Given the description of an element on the screen output the (x, y) to click on. 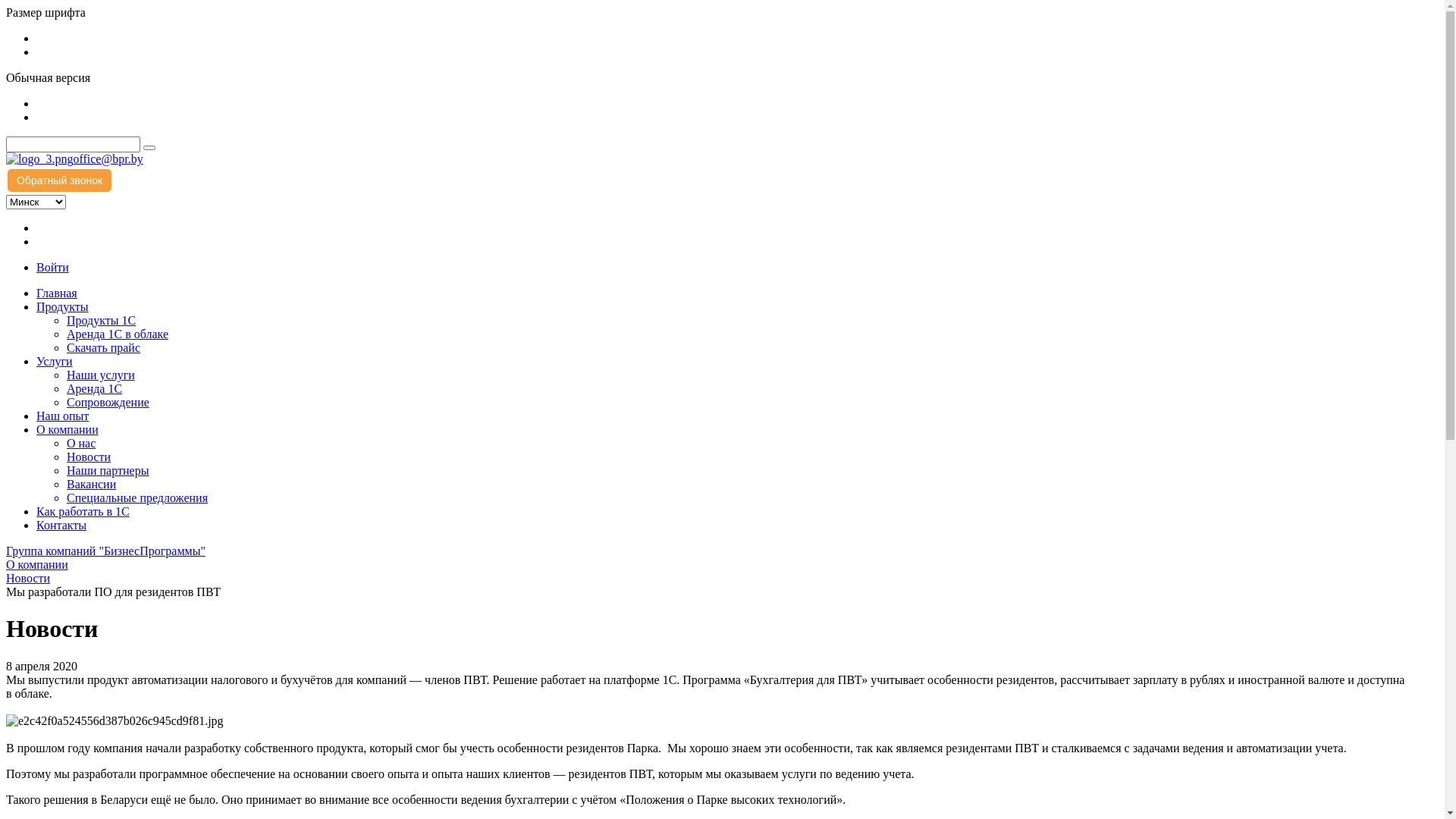
office@bpr.by Element type: text (107, 158)
logo_3.png Element type: hover (39, 159)
e2c42f0a524556d387b026c945cd9f81.jpg Element type: hover (114, 721)
